Given the description of an element on the screen output the (x, y) to click on. 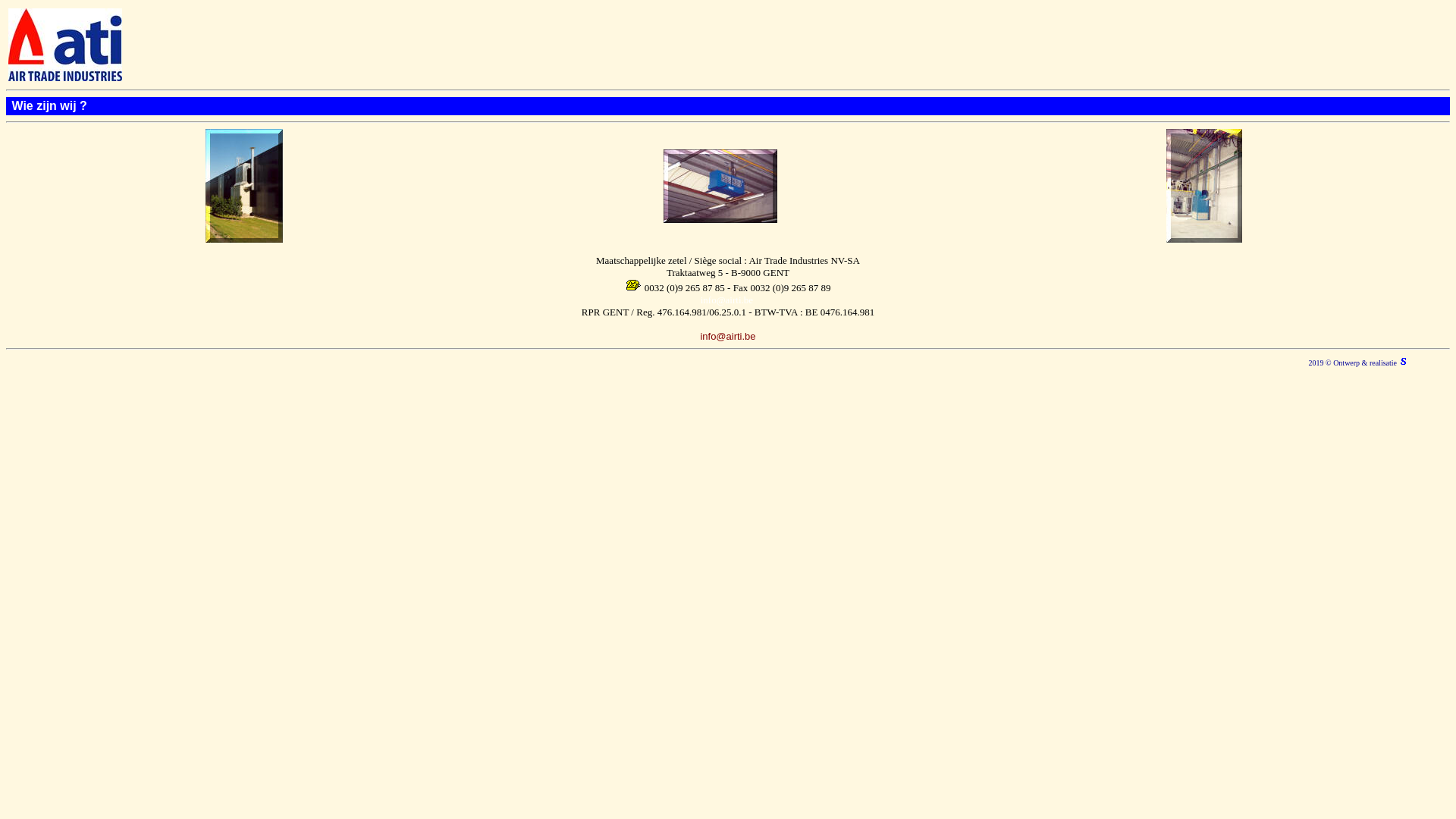
info@airti.be Element type: text (726, 299)
info@airti.be Element type: text (727, 335)
